Given the description of an element on the screen output the (x, y) to click on. 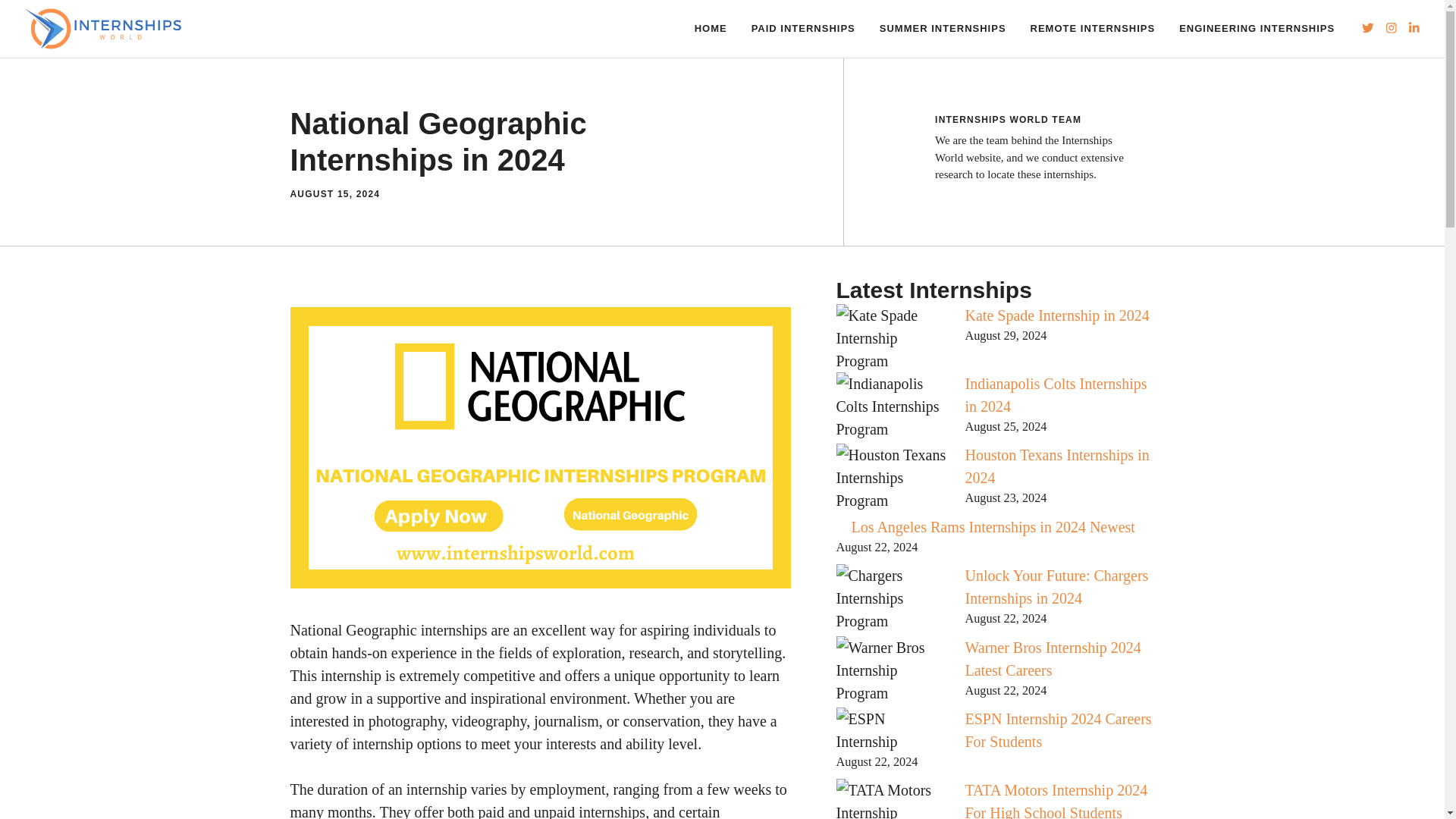
Kate Spade Internship in 2024 (1055, 315)
SUMMER INTERNSHIPS (942, 28)
Unlock Your Future: Chargers Internships in 2024 (1055, 586)
Houston Texans Internships in 2024 (1055, 466)
ENGINEERING INTERNSHIPS (1256, 28)
PAID INTERNSHIPS (803, 28)
Warner Bros Internship 2024 Latest Careers (1051, 658)
REMOTE INTERNSHIPS (1092, 28)
ESPN Internship 2024 Careers For Students (1057, 730)
Indianapolis Colts Internships in 2024 (1055, 394)
